Given the description of an element on the screen output the (x, y) to click on. 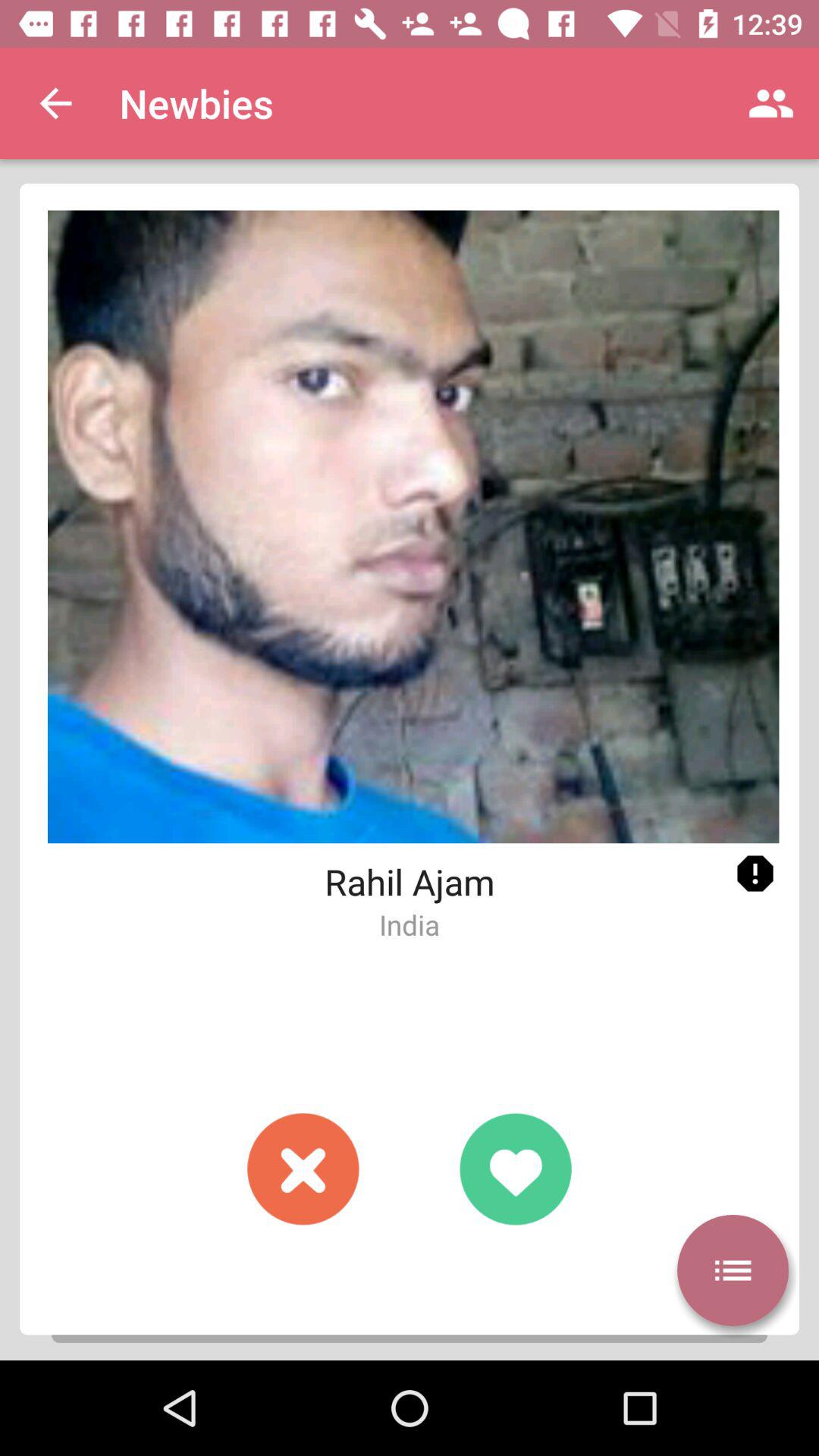
select delete (303, 1169)
